Given the description of an element on the screen output the (x, y) to click on. 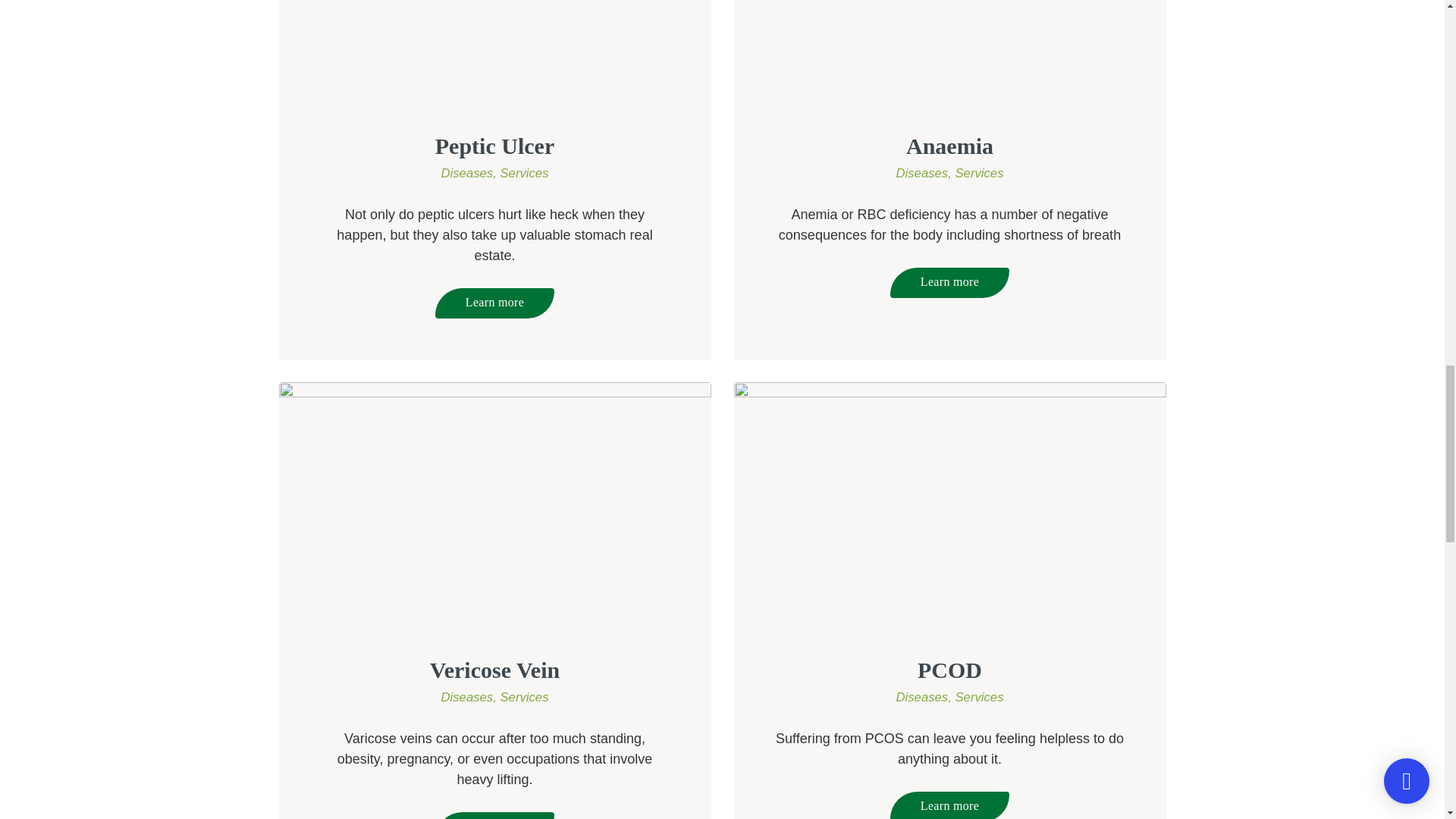
View all posts in Services (523, 697)
View all posts in Diseases (925, 697)
View all posts in Diseases (470, 697)
View all posts in Diseases (925, 173)
View all posts in Services (979, 173)
View all posts in Diseases (470, 173)
View all posts in Services (523, 173)
View all posts in Services (979, 697)
